Given the description of an element on the screen output the (x, y) to click on. 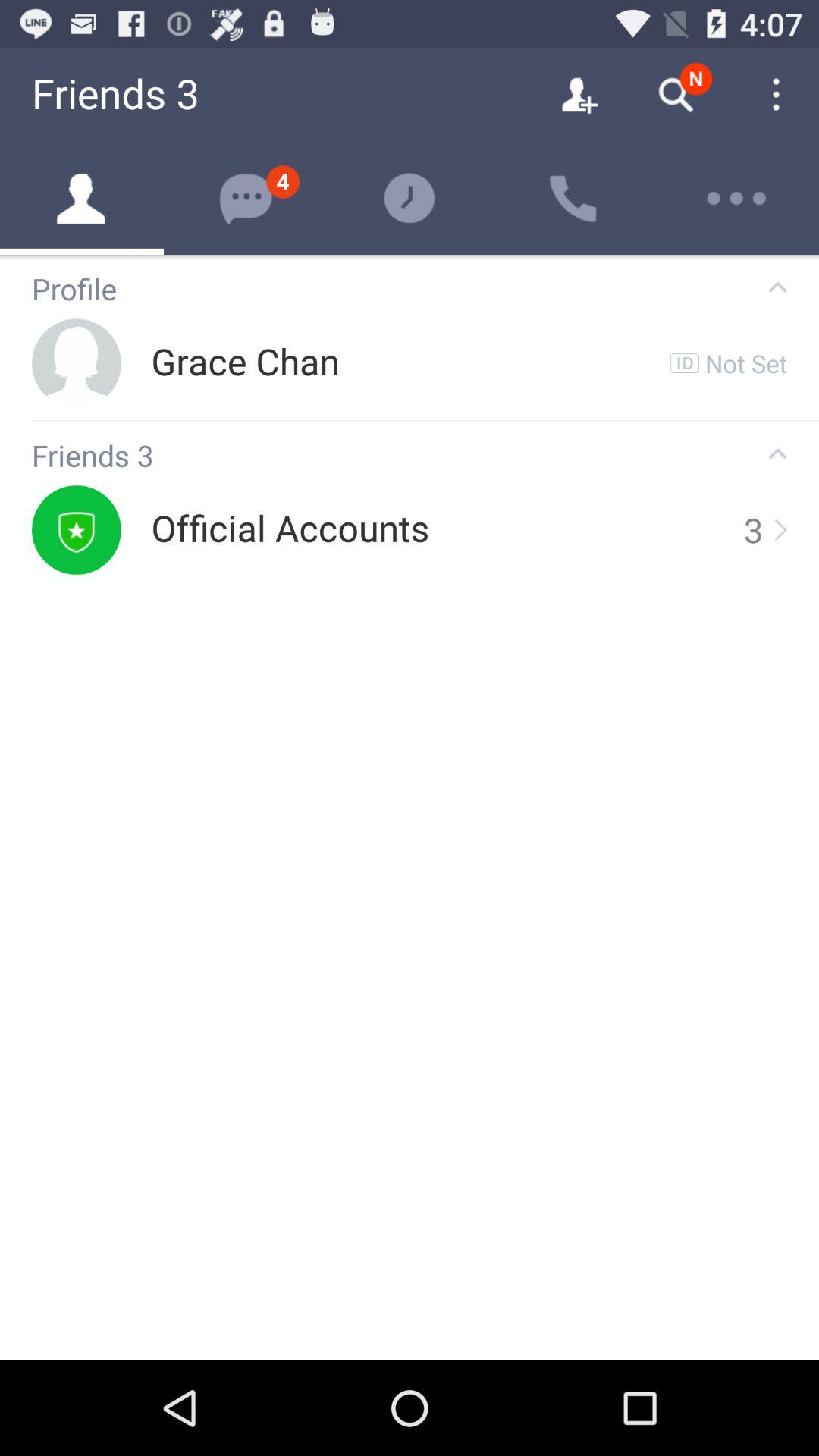
swipe to the grace chan item (245, 362)
